Given the description of an element on the screen output the (x, y) to click on. 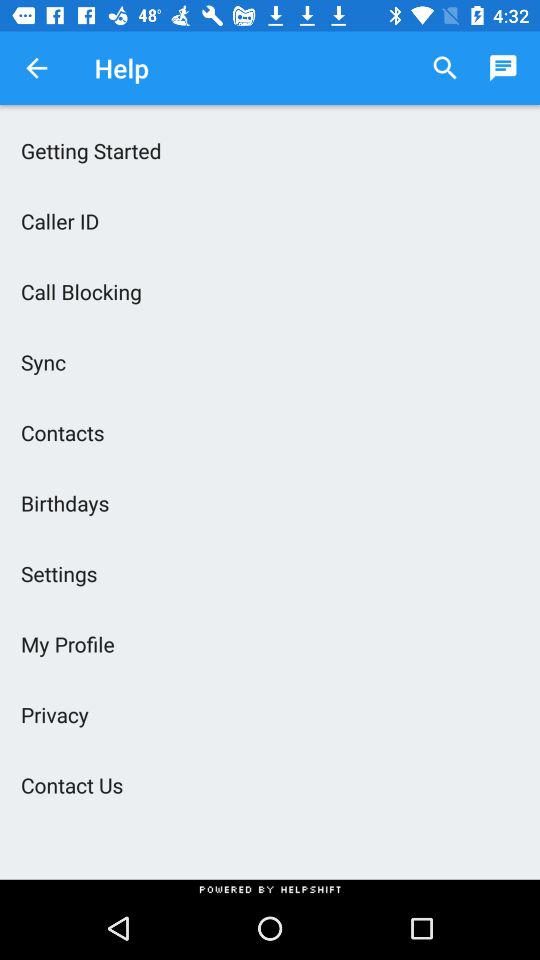
scroll to getting started item (270, 150)
